Given the description of an element on the screen output the (x, y) to click on. 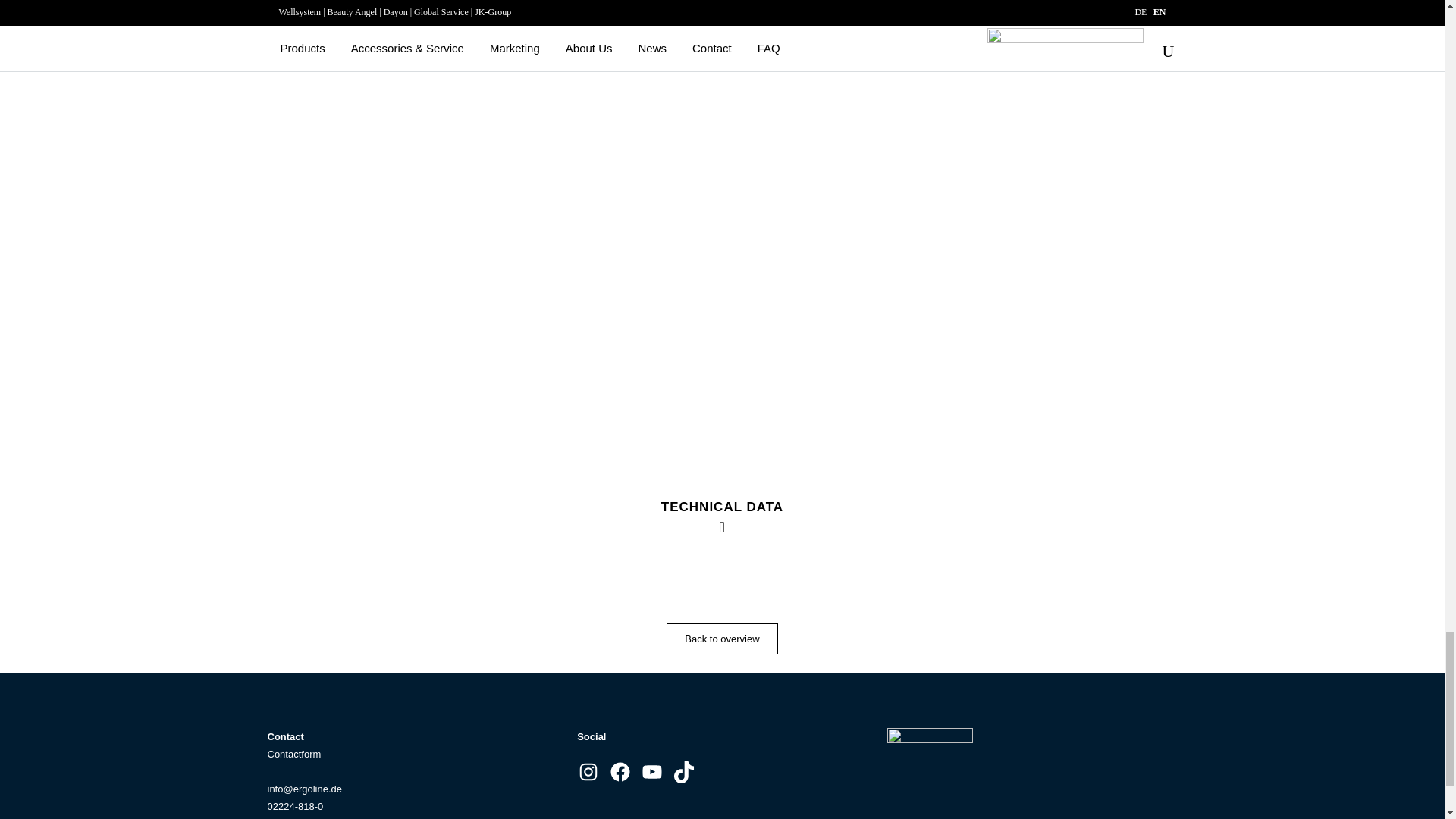
Contactform (293, 754)
Facebook (619, 771)
Back to overview (721, 638)
Instagram (587, 771)
YouTube (651, 771)
TikTok (683, 771)
